Given the description of an element on the screen output the (x, y) to click on. 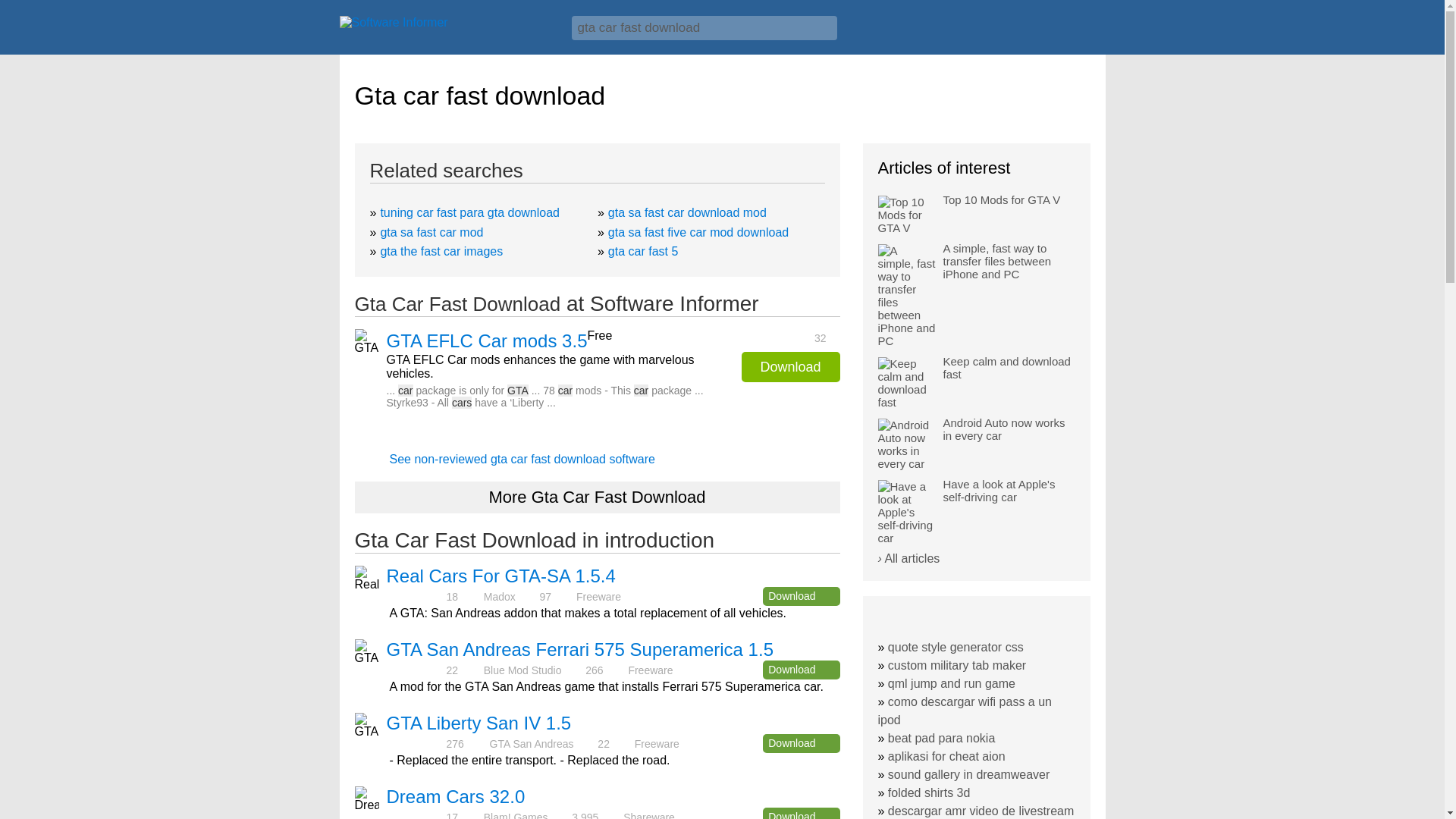
Download (801, 669)
gta car fast 5 (643, 250)
3.7 (415, 816)
4.4 (415, 596)
Download (790, 367)
Real Cars For GTA-SA 1.5.4 (501, 575)
Download (801, 742)
Download (801, 813)
Real Cars For GTA-SA 1.5.4 (501, 575)
gta sa fast car download mod (687, 212)
